Given the description of an element on the screen output the (x, y) to click on. 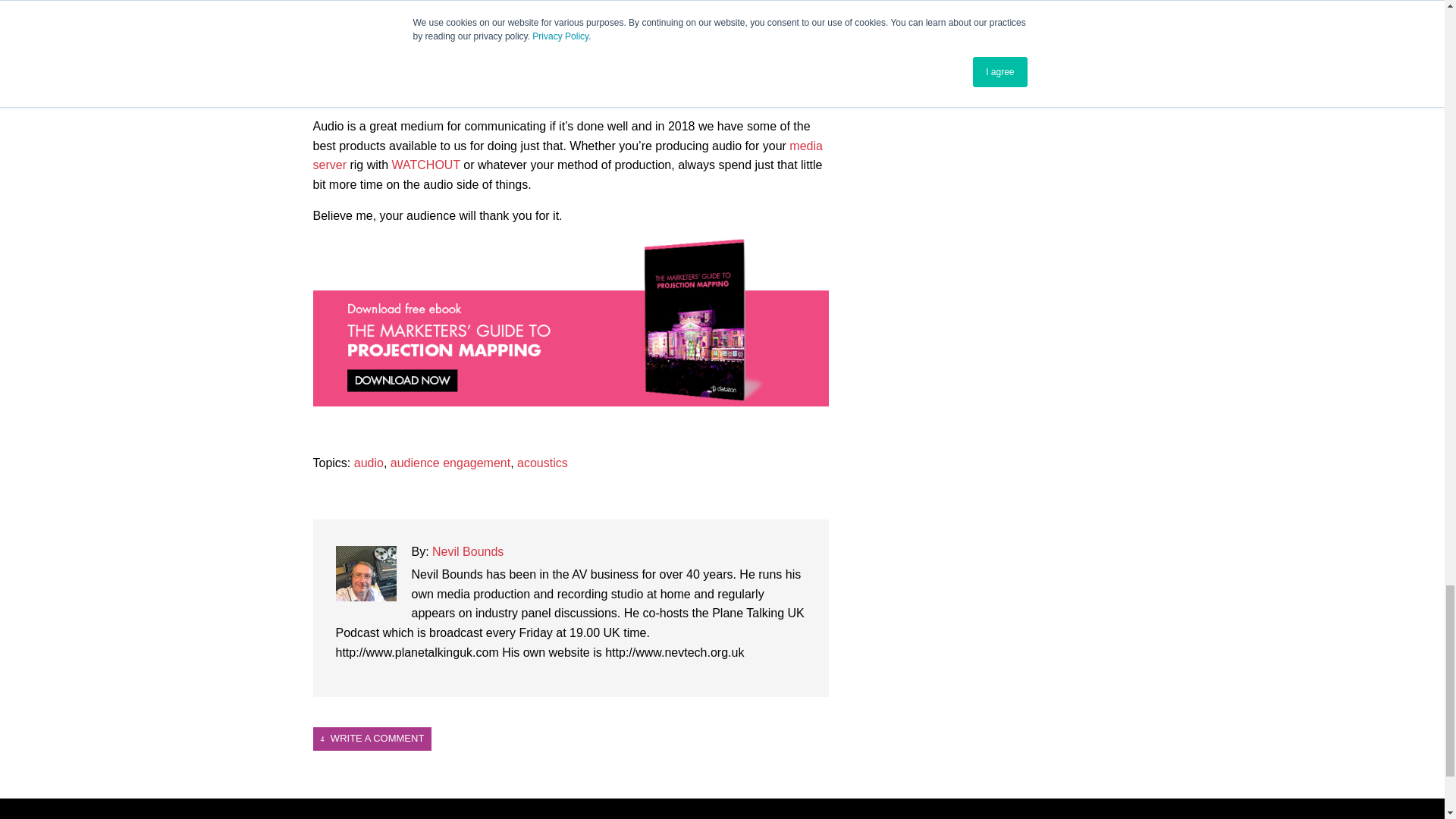
Nevil Bounds (467, 551)
AVIXA CTS course (717, 24)
media server (567, 155)
audience engagement (450, 462)
acoustics (541, 462)
audio (368, 462)
Roland Hemming (778, 74)
WATCHOUT (425, 164)
